Given the description of an element on the screen output the (x, y) to click on. 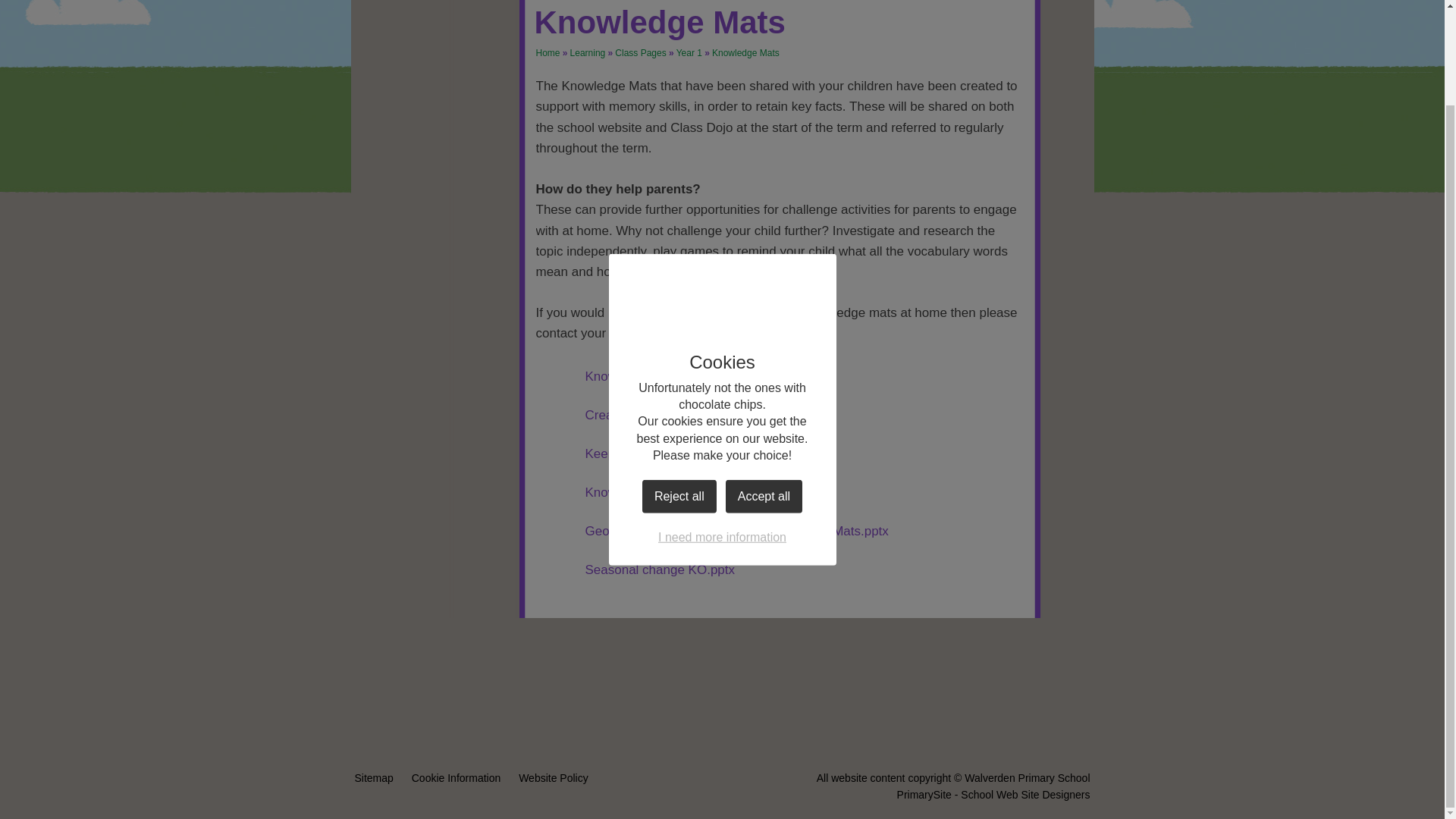
Home (547, 52)
Class Pages (639, 52)
Knowledge Mat- Judaism.pptx (646, 492)
Geography - The Great Freeze Knowledge Mats.pptx (711, 531)
Knowledge Organiser - Green Fingers.pdf (679, 376)
Knowledge Mats (744, 52)
Seasonal change KO.pptx (635, 570)
Year 1 (689, 52)
Learning (587, 52)
Our School (431, 56)
